Given the description of an element on the screen output the (x, y) to click on. 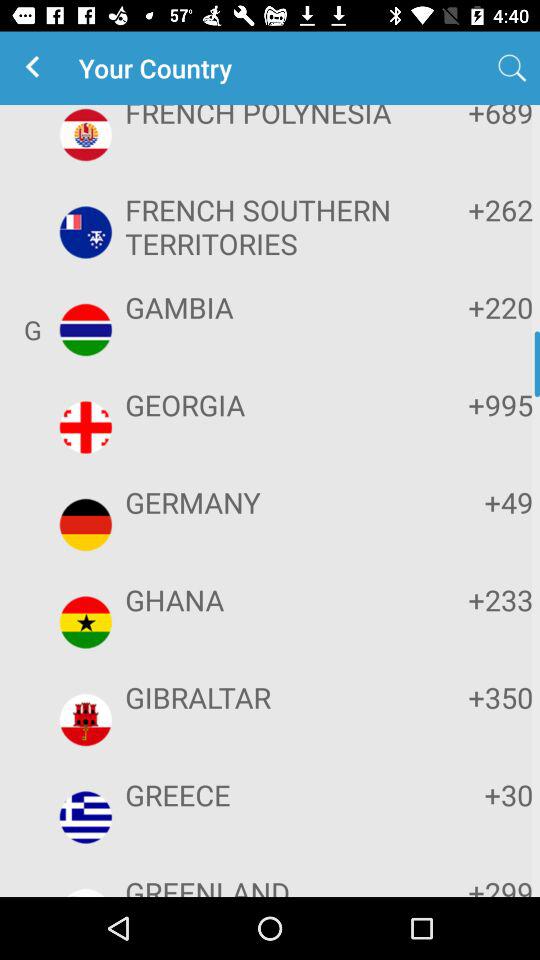
press app above gambia (267, 226)
